Given the description of an element on the screen output the (x, y) to click on. 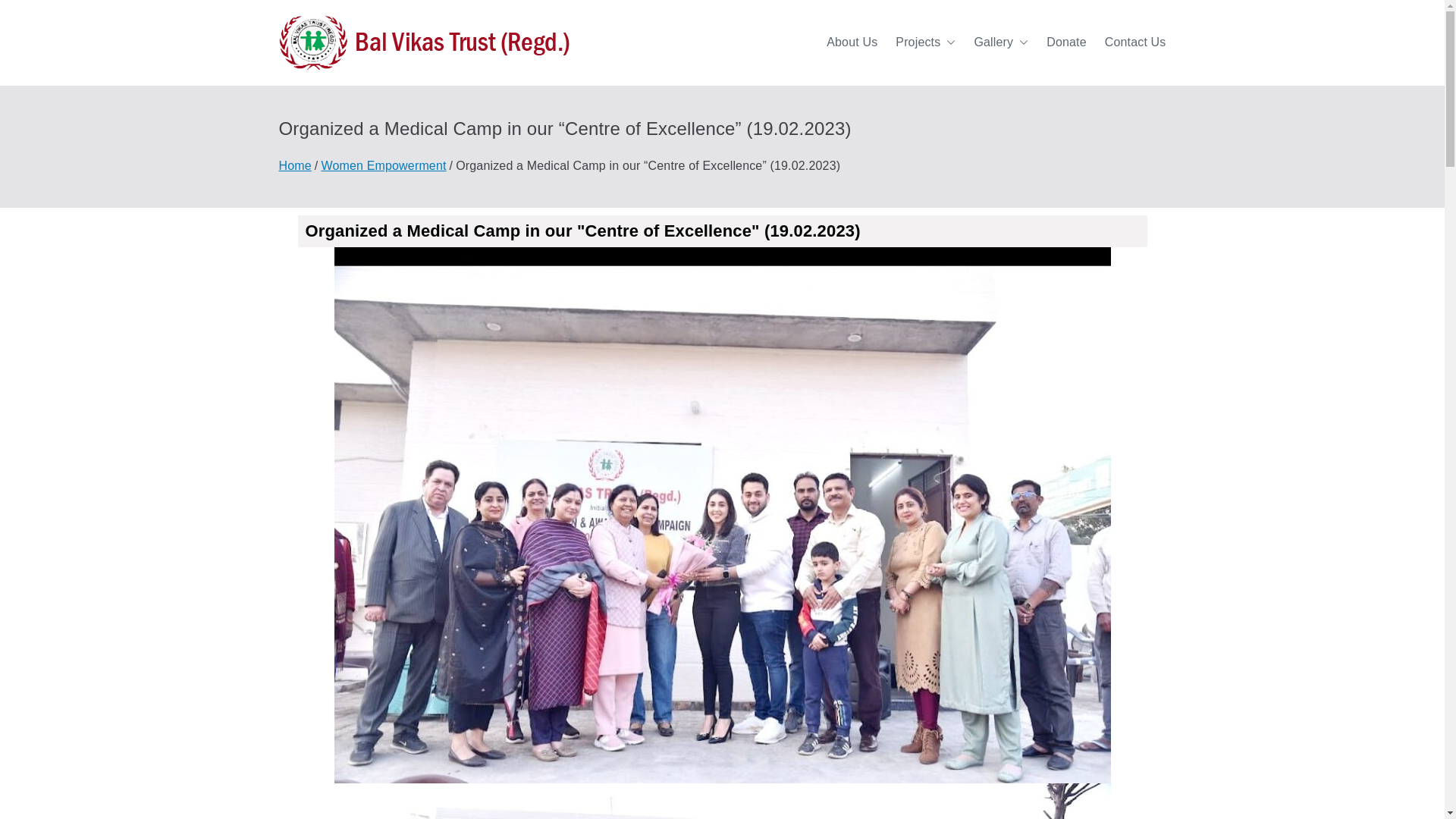
Home (295, 164)
Contact Us (1135, 42)
Women Empowerment (382, 164)
Donate (1066, 42)
Projects (925, 42)
About Us (852, 42)
Gallery (1000, 42)
